Given the description of an element on the screen output the (x, y) to click on. 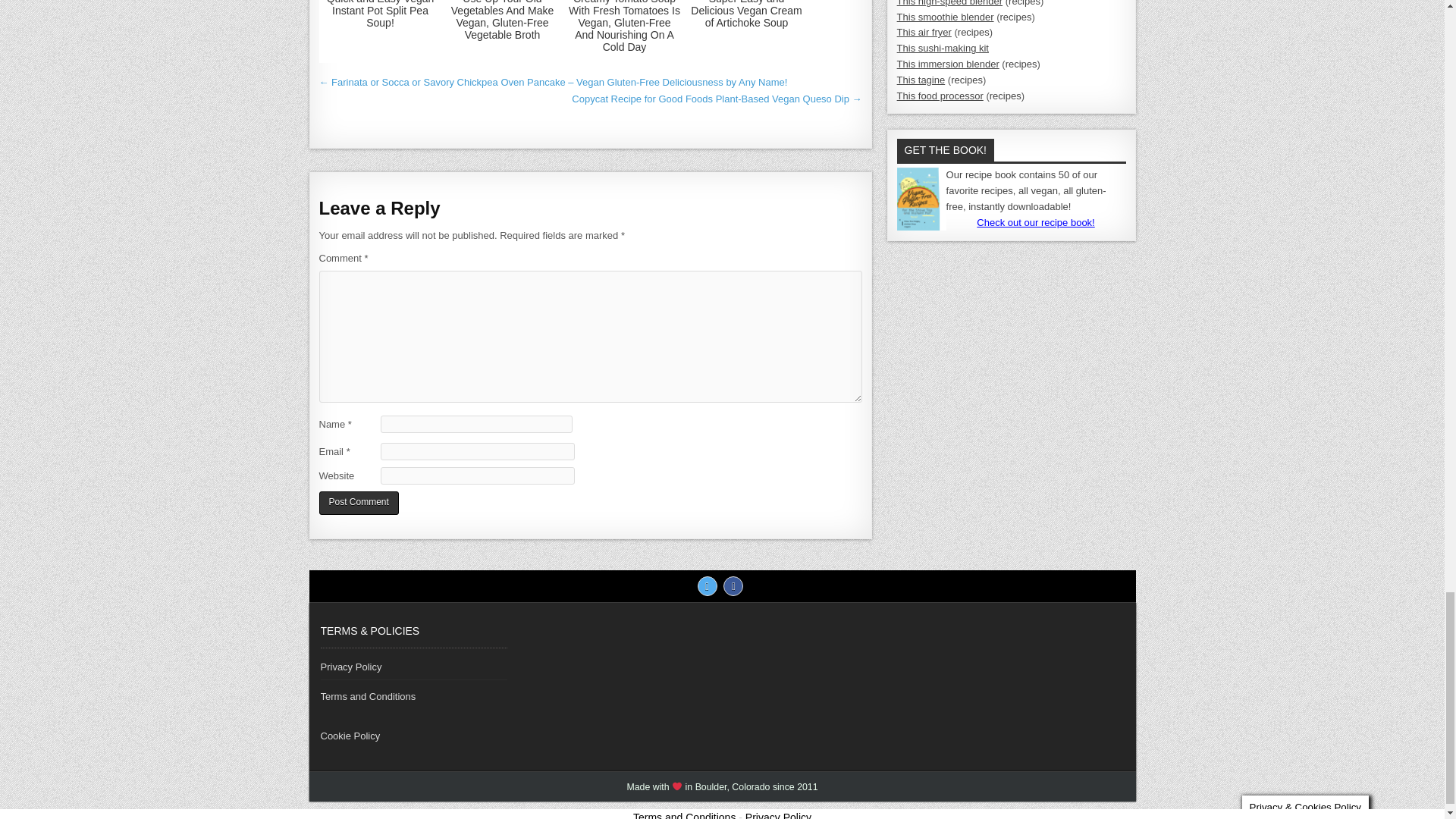
Post Comment (357, 503)
